Given the description of an element on the screen output the (x, y) to click on. 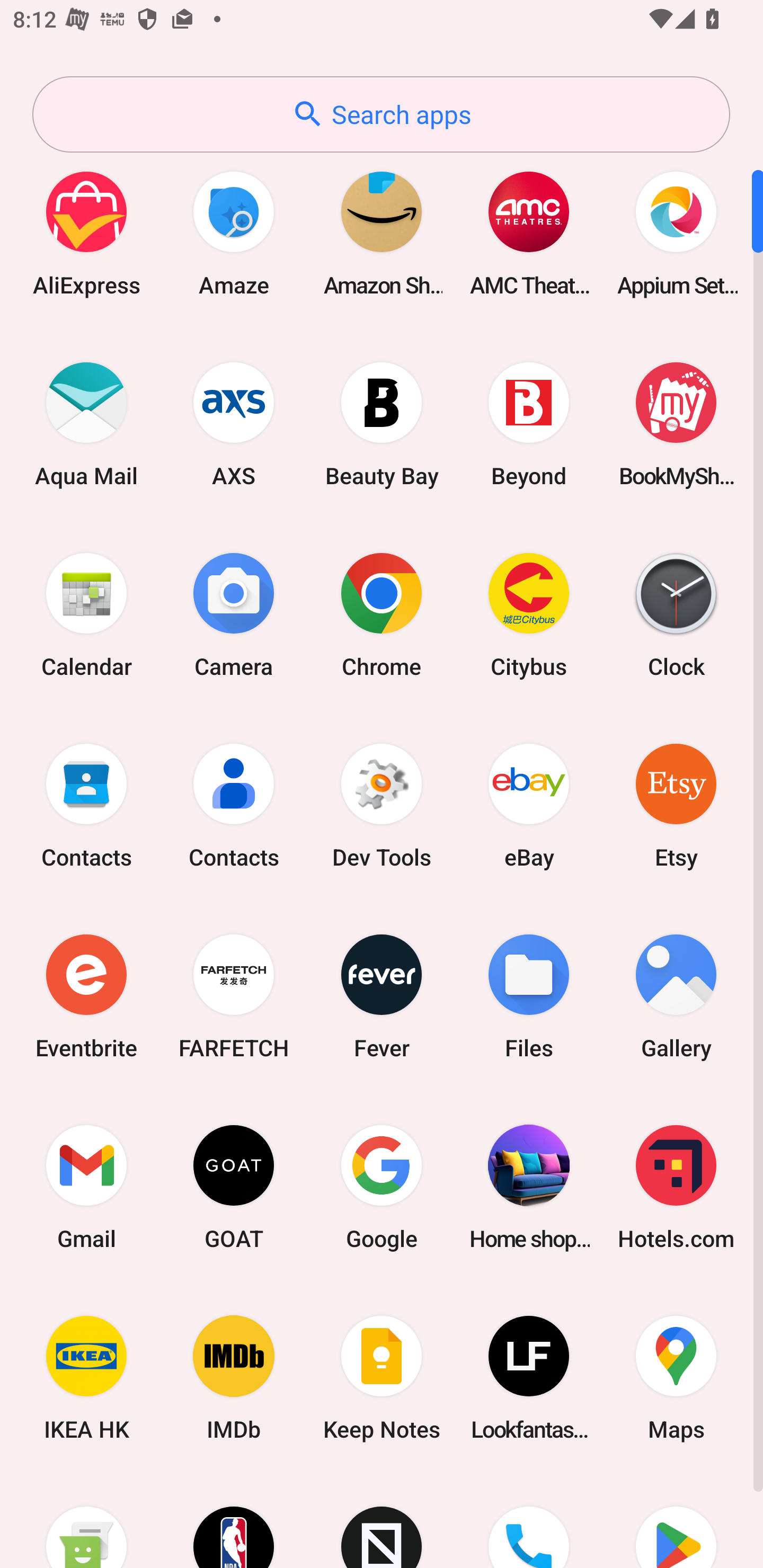
  Search apps (381, 114)
AliExpress (86, 233)
Amaze (233, 233)
Amazon Shopping (381, 233)
AMC Theatres (528, 233)
Appium Settings (676, 233)
Aqua Mail (86, 424)
AXS (233, 424)
Beauty Bay (381, 424)
Beyond (528, 424)
BookMyShow (676, 424)
Calendar (86, 614)
Camera (233, 614)
Chrome (381, 614)
Citybus (528, 614)
Clock (676, 614)
Contacts (86, 805)
Contacts (233, 805)
Dev Tools (381, 805)
eBay (528, 805)
Etsy (676, 805)
Eventbrite (86, 996)
FARFETCH (233, 996)
Fever (381, 996)
Files (528, 996)
Gallery (676, 996)
Gmail (86, 1186)
GOAT (233, 1186)
Google (381, 1186)
Home shopping (528, 1186)
Hotels.com (676, 1186)
IKEA HK (86, 1377)
IMDb (233, 1377)
Keep Notes (381, 1377)
Lookfantastic (528, 1377)
Maps (676, 1377)
Messaging (86, 1520)
NBA (233, 1520)
Novelship (381, 1520)
Phone (528, 1520)
Play Store (676, 1520)
